Given the description of an element on the screen output the (x, y) to click on. 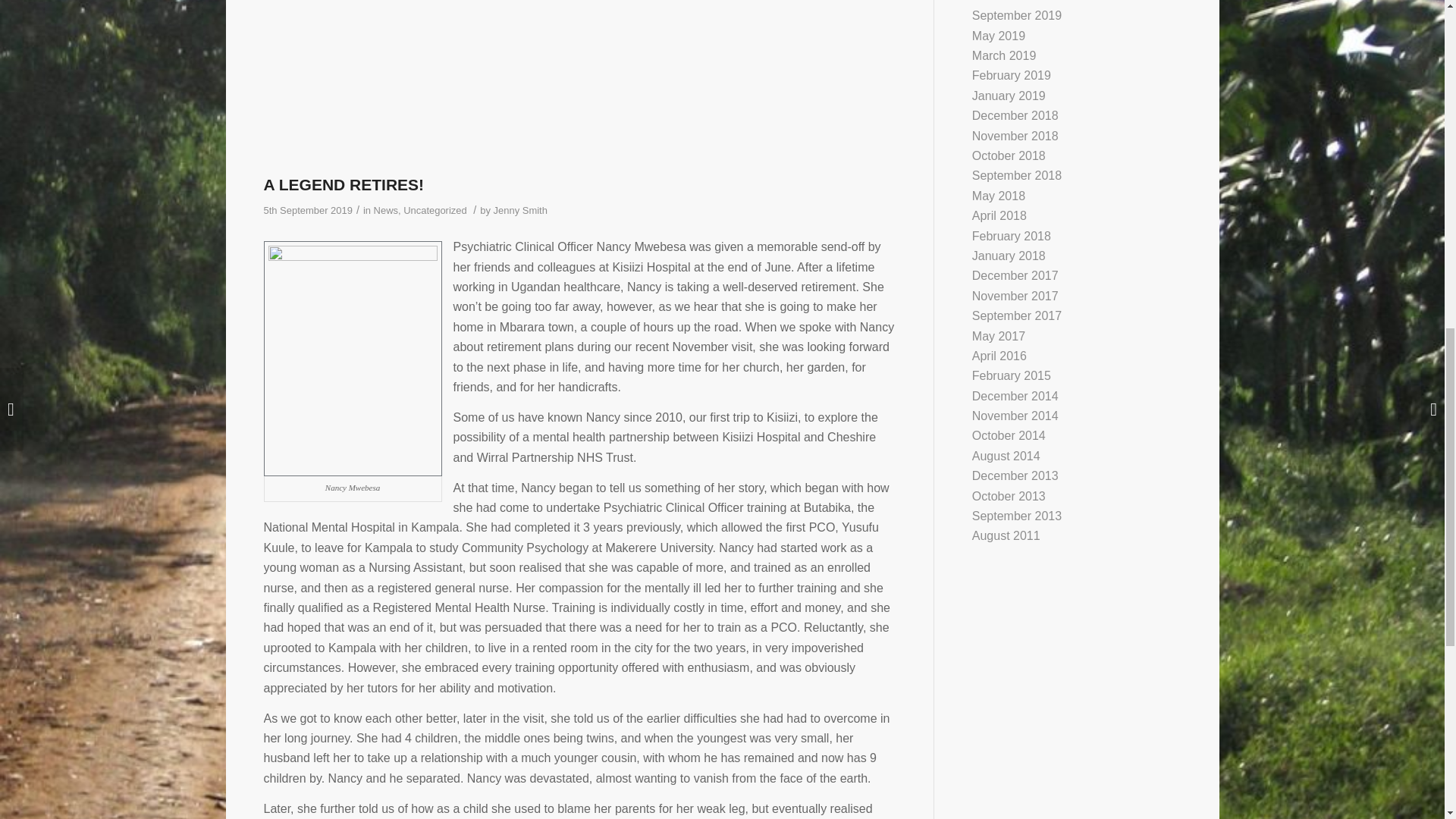
News (385, 210)
Uncategorized (435, 210)
Jenny Smith (520, 210)
nancy1 (579, 83)
Permanent Link: A LEGEND RETIRES! (344, 184)
Posts by Jenny Smith (520, 210)
A LEGEND RETIRES! (344, 184)
